Given the description of an element on the screen output the (x, y) to click on. 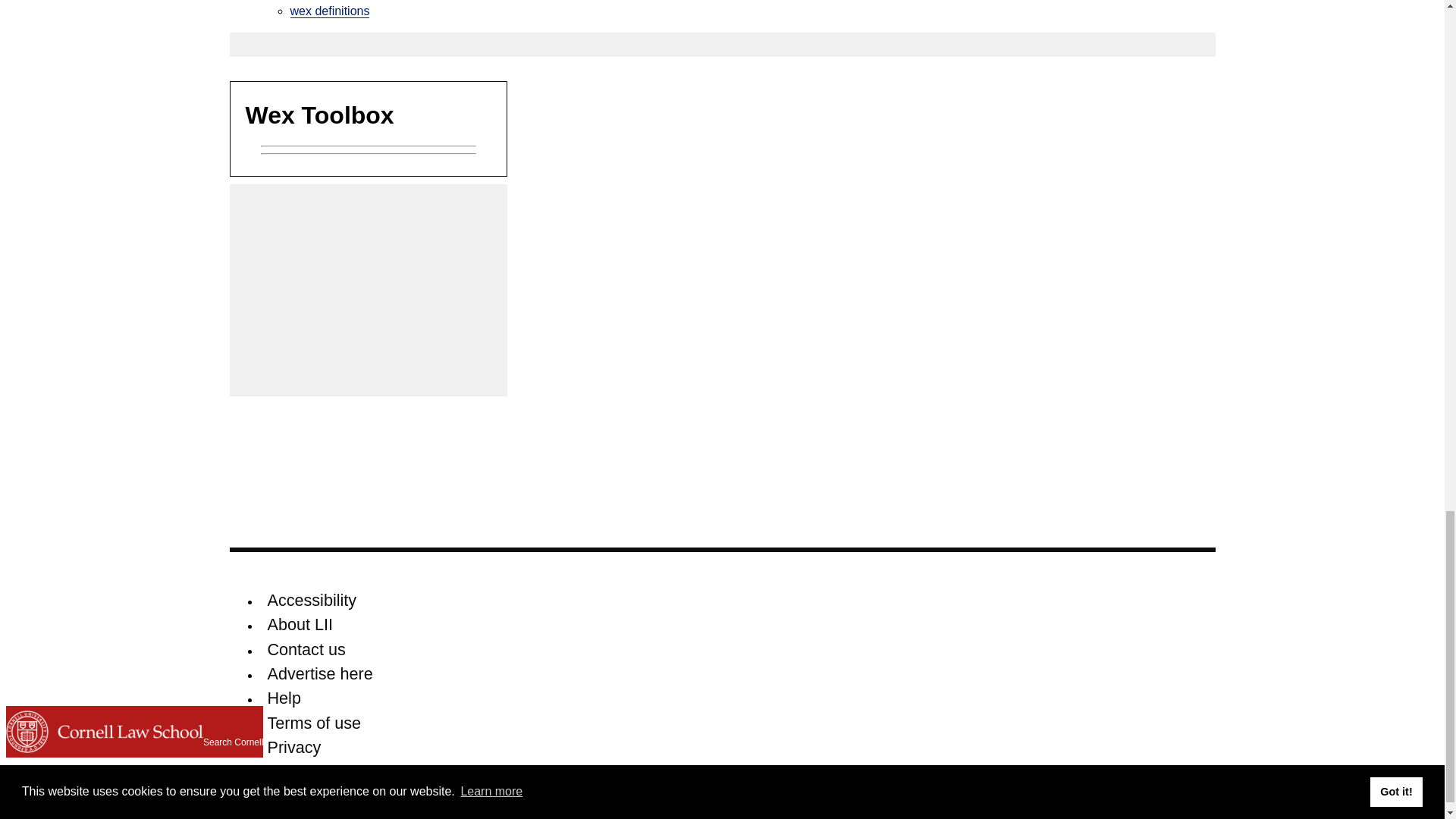
3rd party ad content (368, 290)
